Given the description of an element on the screen output the (x, y) to click on. 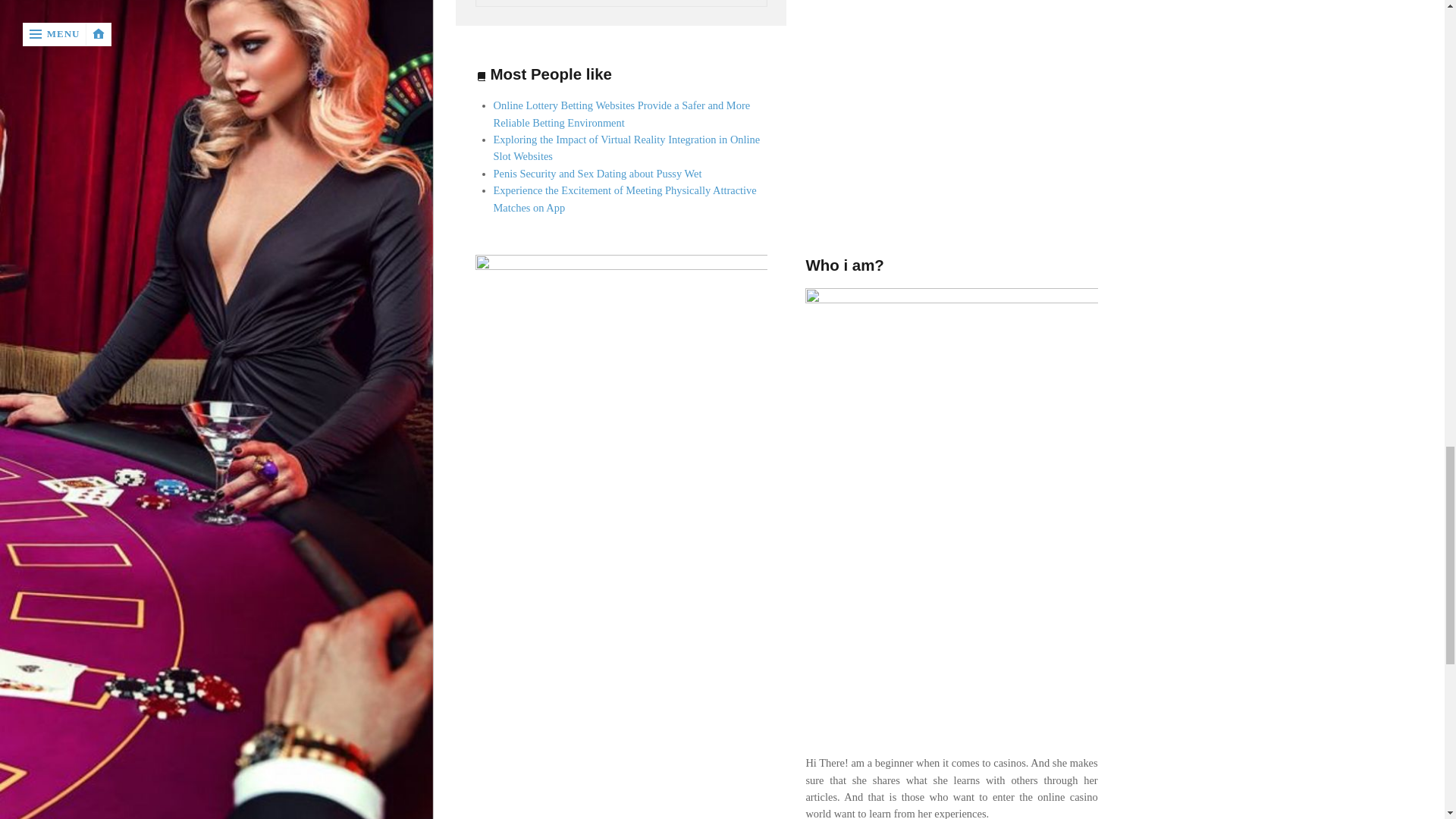
Penis Security and Sex Dating about Pussy Wet (597, 173)
